Given the description of an element on the screen output the (x, y) to click on. 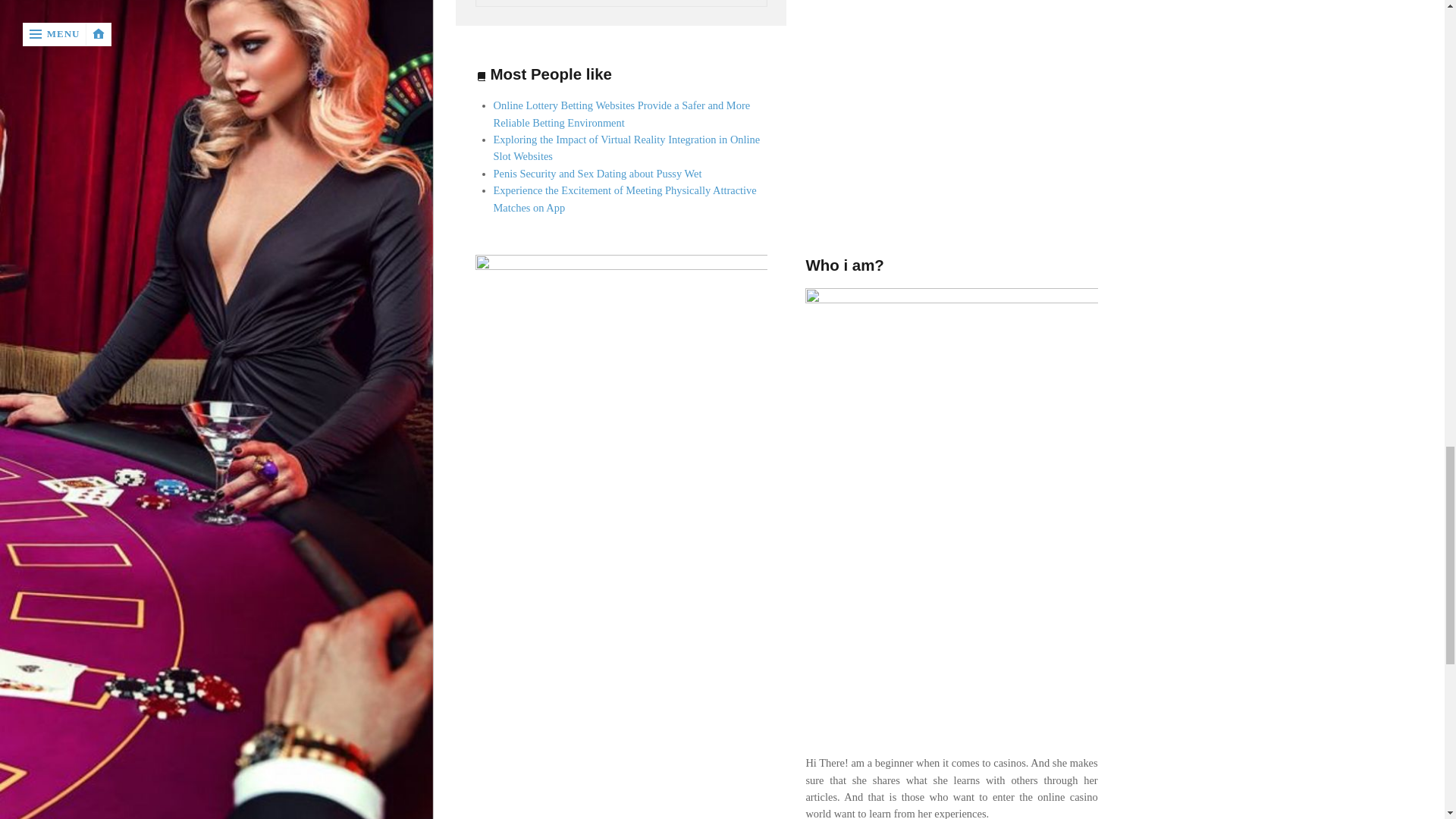
Penis Security and Sex Dating about Pussy Wet (597, 173)
